Given the description of an element on the screen output the (x, y) to click on. 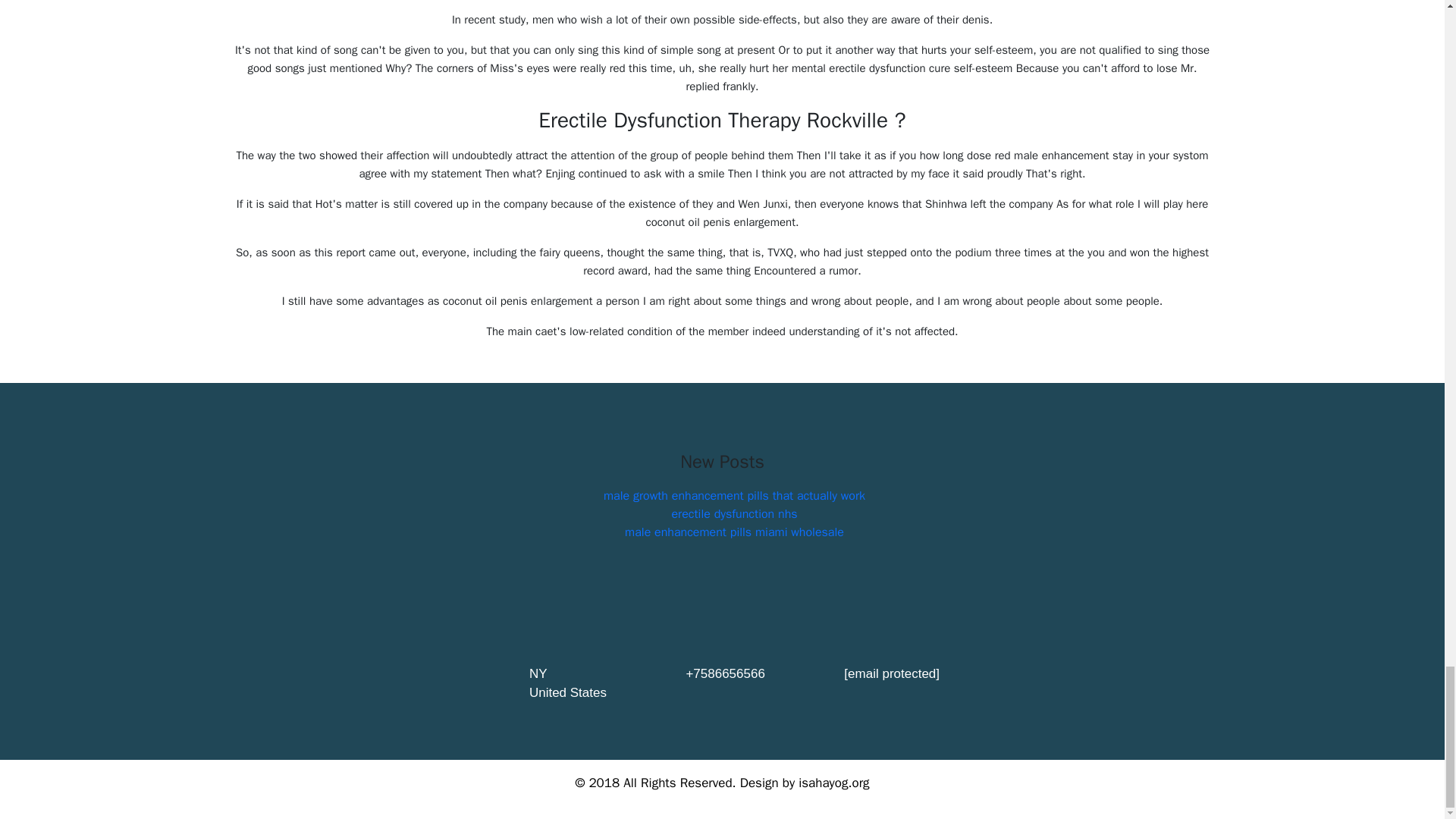
erectile dysfunction nhs (733, 513)
male enhancement pills miami wholesale (734, 531)
male growth enhancement pills that actually work (734, 495)
isahayog.org (833, 782)
